Given the description of an element on the screen output the (x, y) to click on. 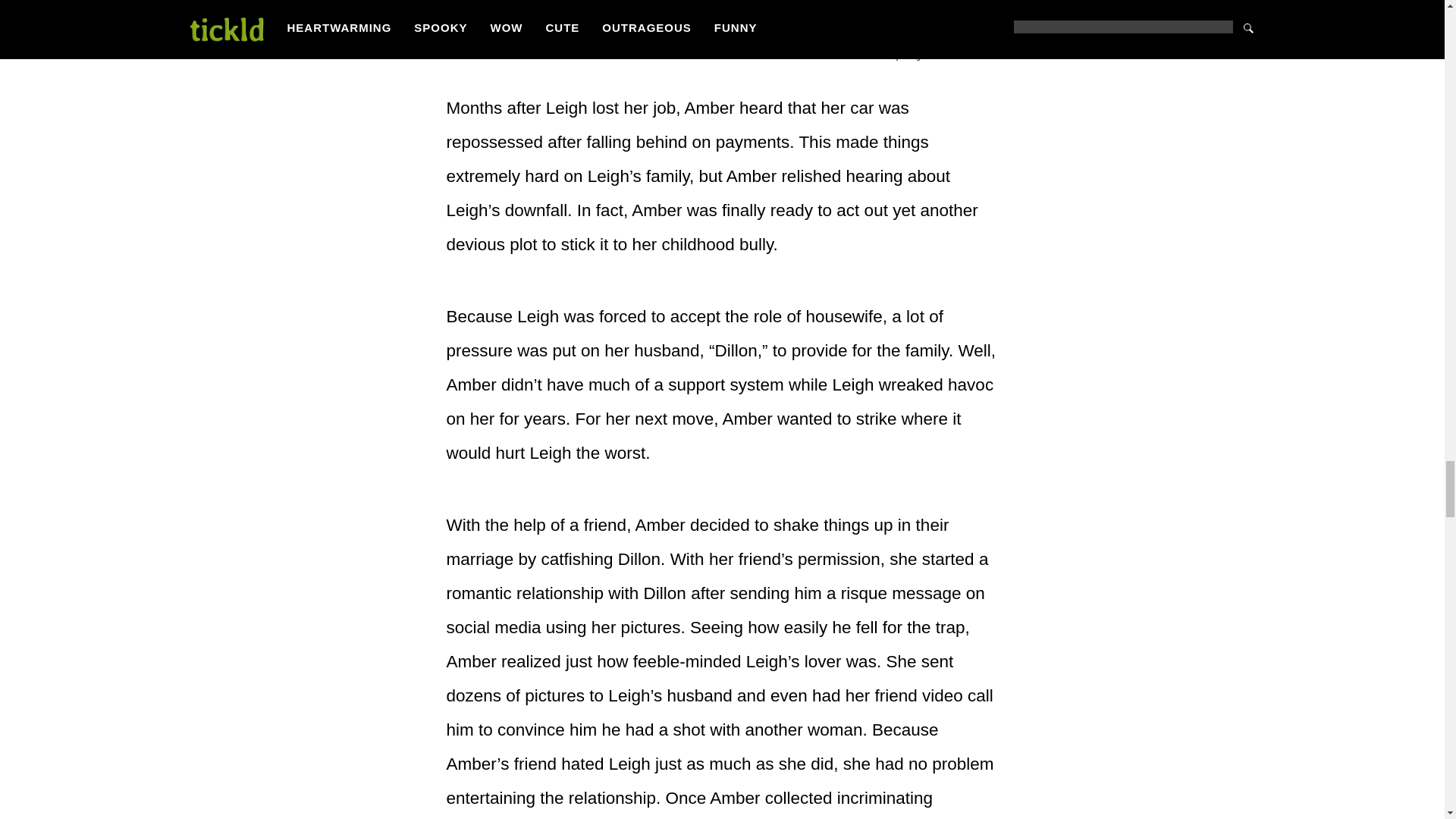
Pexels (984, 56)
